Given the description of an element on the screen output the (x, y) to click on. 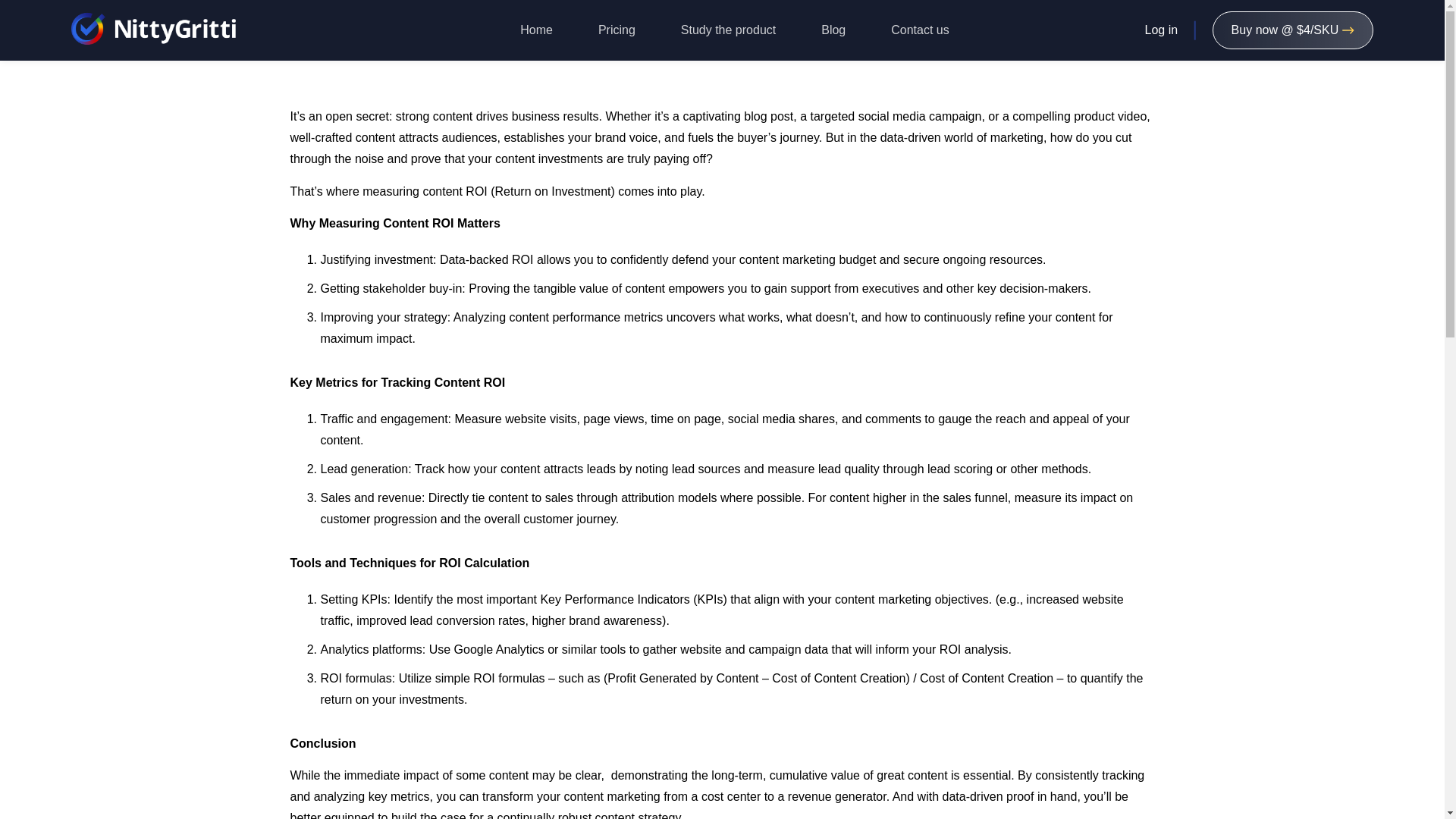
Log in (1160, 30)
Pricing (1293, 30)
NittyGritti (152, 30)
Pricing (616, 30)
Study The Product (727, 30)
Blog (832, 30)
Blog (832, 30)
Home (536, 30)
Study the product (727, 30)
Pricing (616, 30)
